Given the description of an element on the screen output the (x, y) to click on. 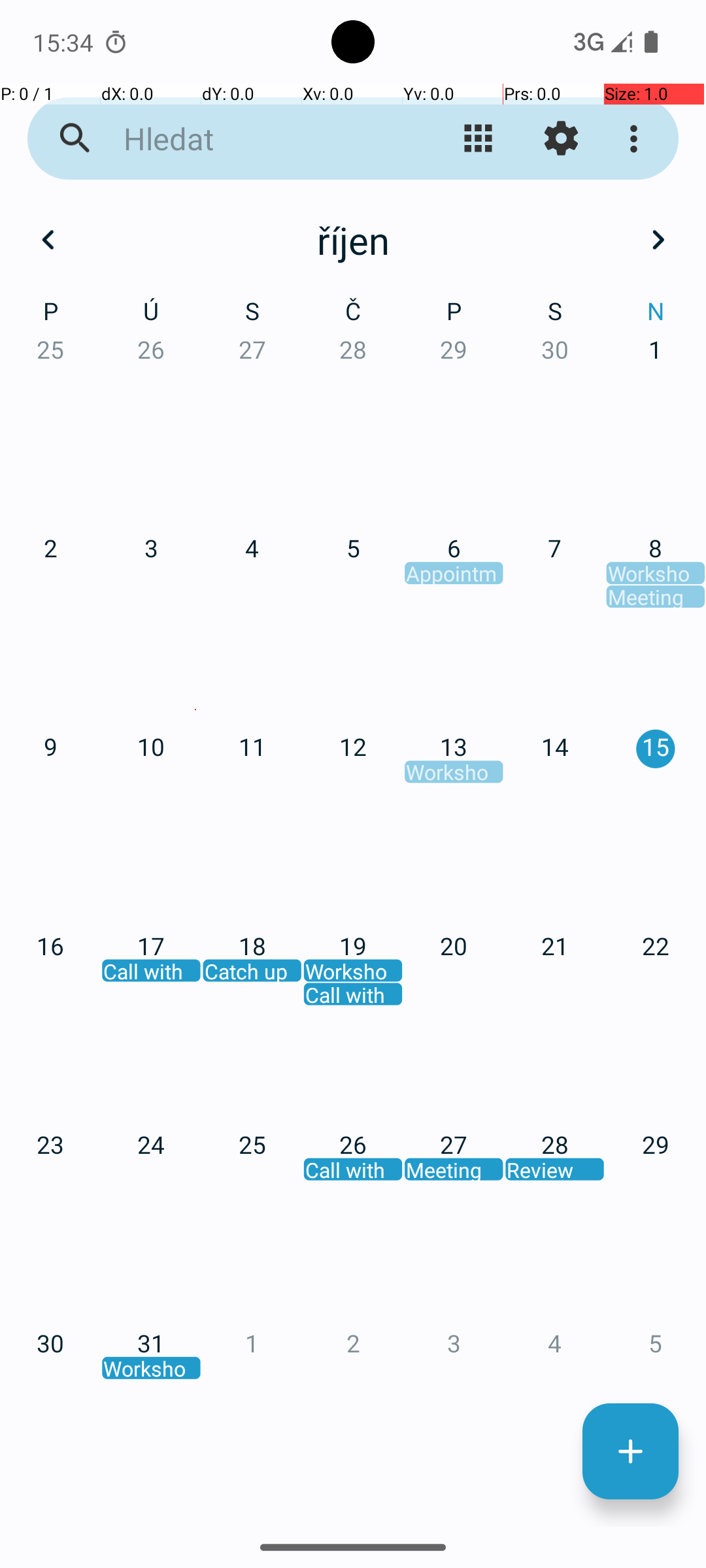
Nastavení Element type: android.widget.Button (560, 138)
říjen Element type: android.widget.TextView (352, 239)
